Given the description of an element on the screen output the (x, y) to click on. 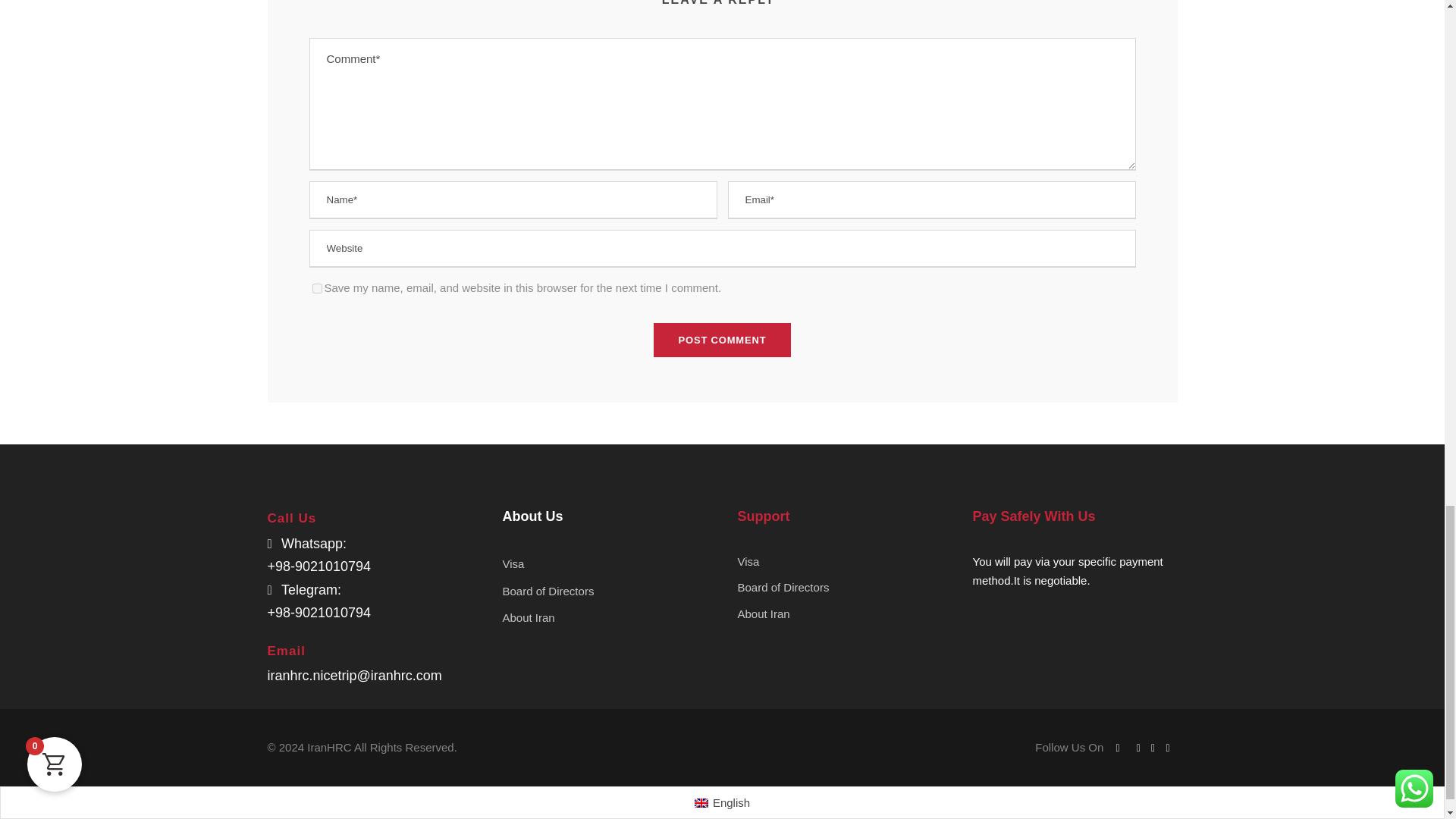
yes (317, 288)
Post Comment (722, 339)
